Given the description of an element on the screen output the (x, y) to click on. 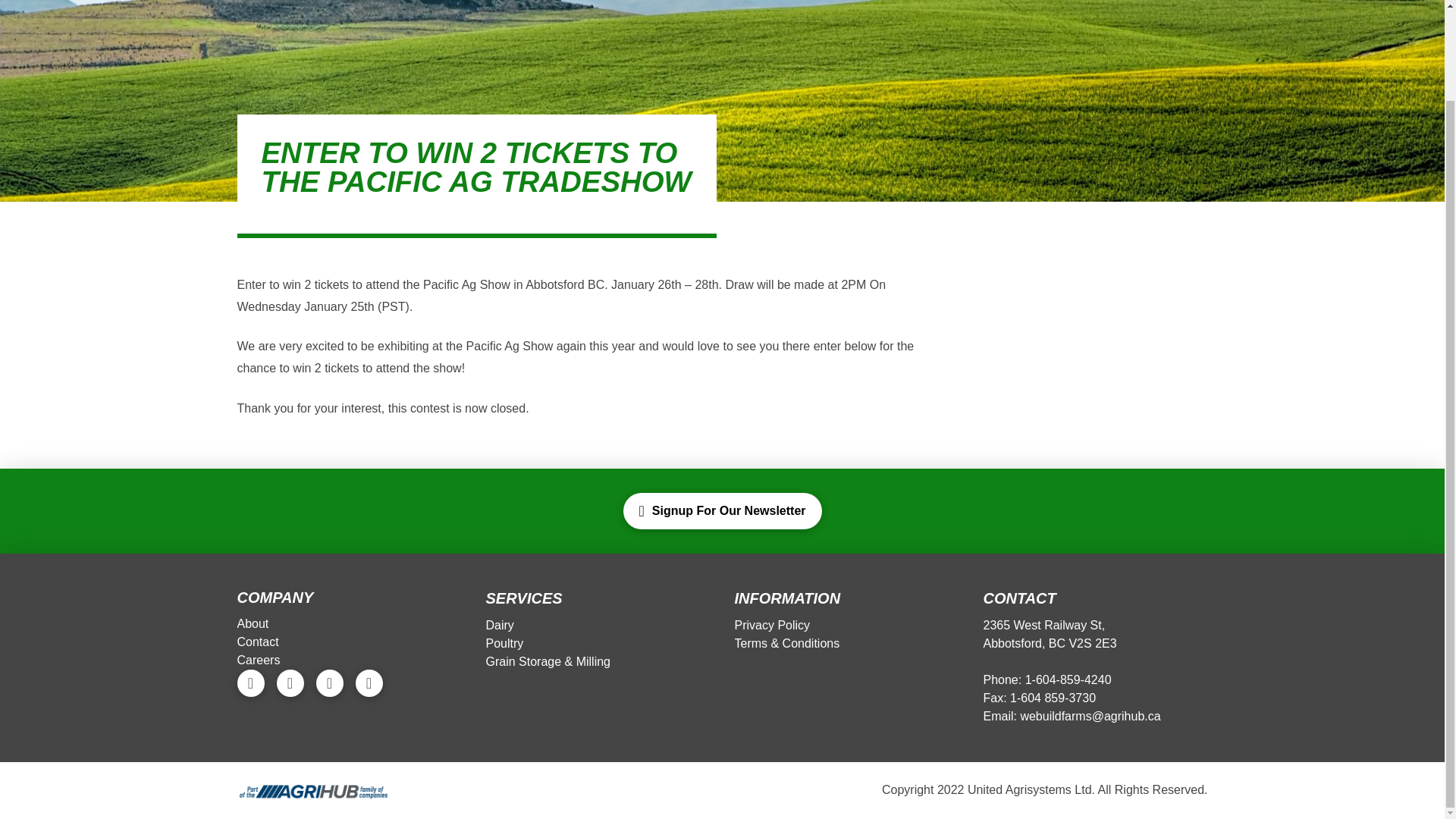
Signup For Our Newsletter (722, 511)
Contact (258, 642)
Privacy Policy (772, 625)
Poultry (504, 643)
Dairy (500, 625)
About (252, 624)
Careers (258, 660)
